Given the description of an element on the screen output the (x, y) to click on. 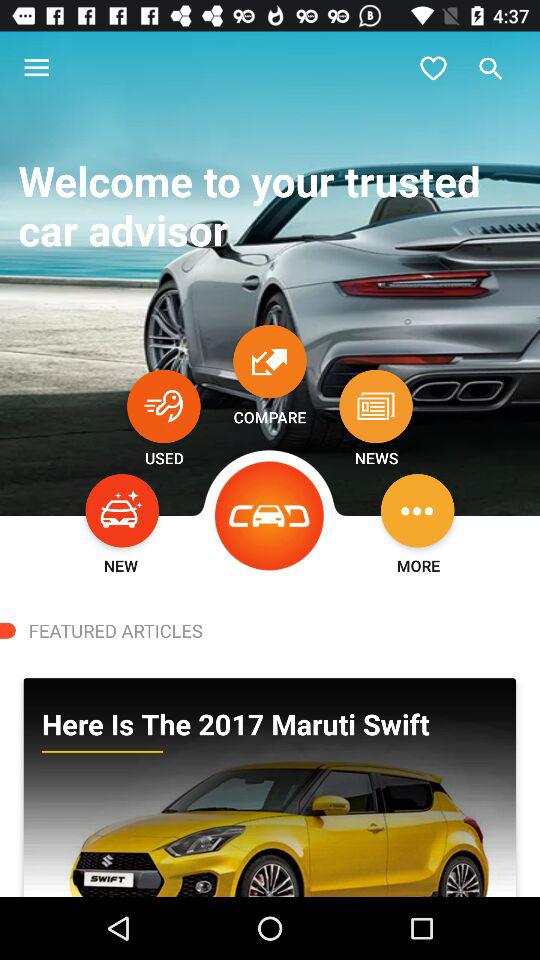
tap icon next to news (269, 515)
